Given the description of an element on the screen output the (x, y) to click on. 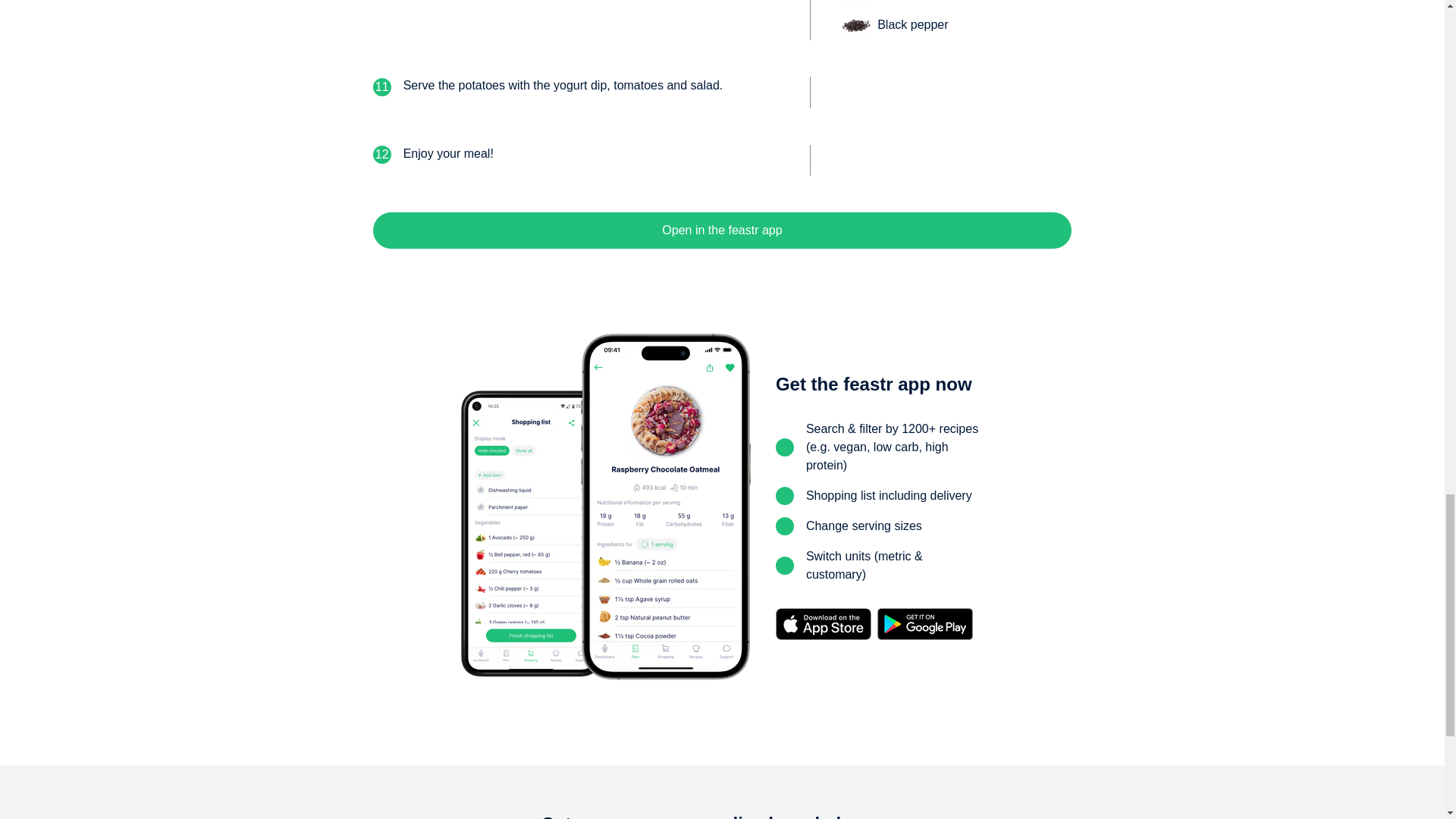
Open in the feastr app (721, 230)
